Given the description of an element on the screen output the (x, y) to click on. 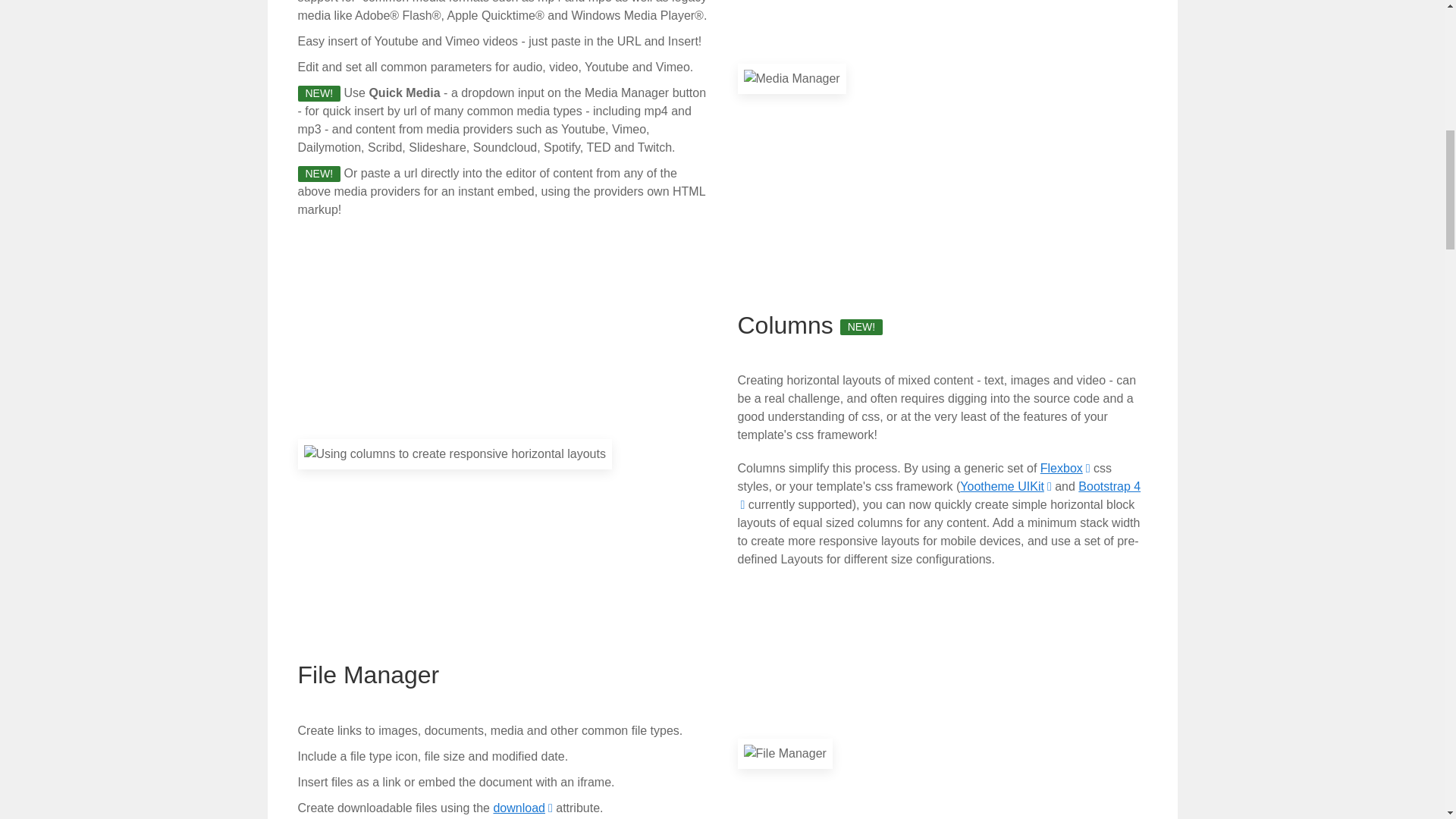
download (522, 807)
Download Attribute (522, 807)
Yootheme UIKit (1005, 486)
Bootstrap 4 (938, 495)
Yootheme UIKit CSS Framework (1005, 486)
A guide to flexbox (1065, 468)
Flexbox (1065, 468)
Bootstrap CSS Framework (938, 495)
